Given the description of an element on the screen output the (x, y) to click on. 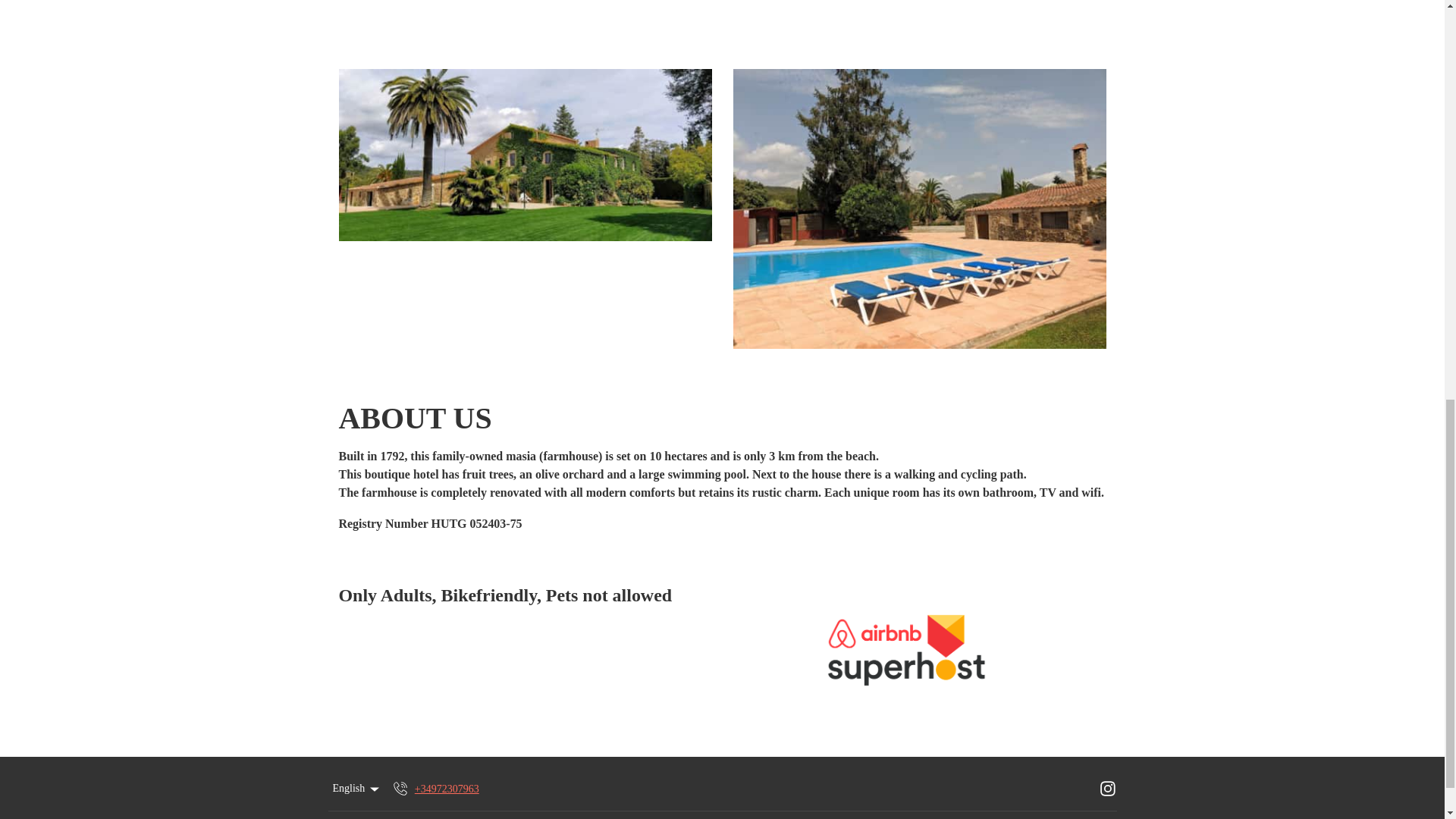
Instagram (1106, 789)
Image Title (524, 154)
Image Title (918, 208)
Instagram (1106, 789)
English (356, 789)
